Given the description of an element on the screen output the (x, y) to click on. 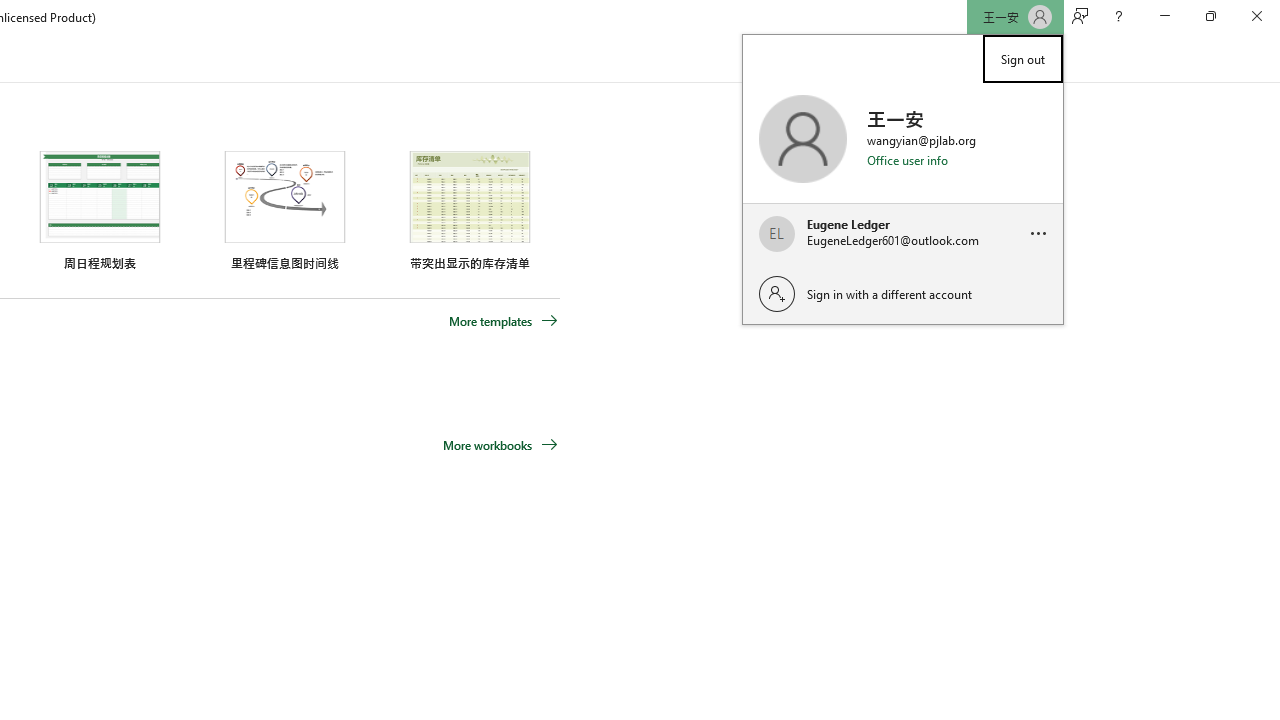
More templates (503, 321)
More workbooks (500, 444)
